Given the description of an element on the screen output the (x, y) to click on. 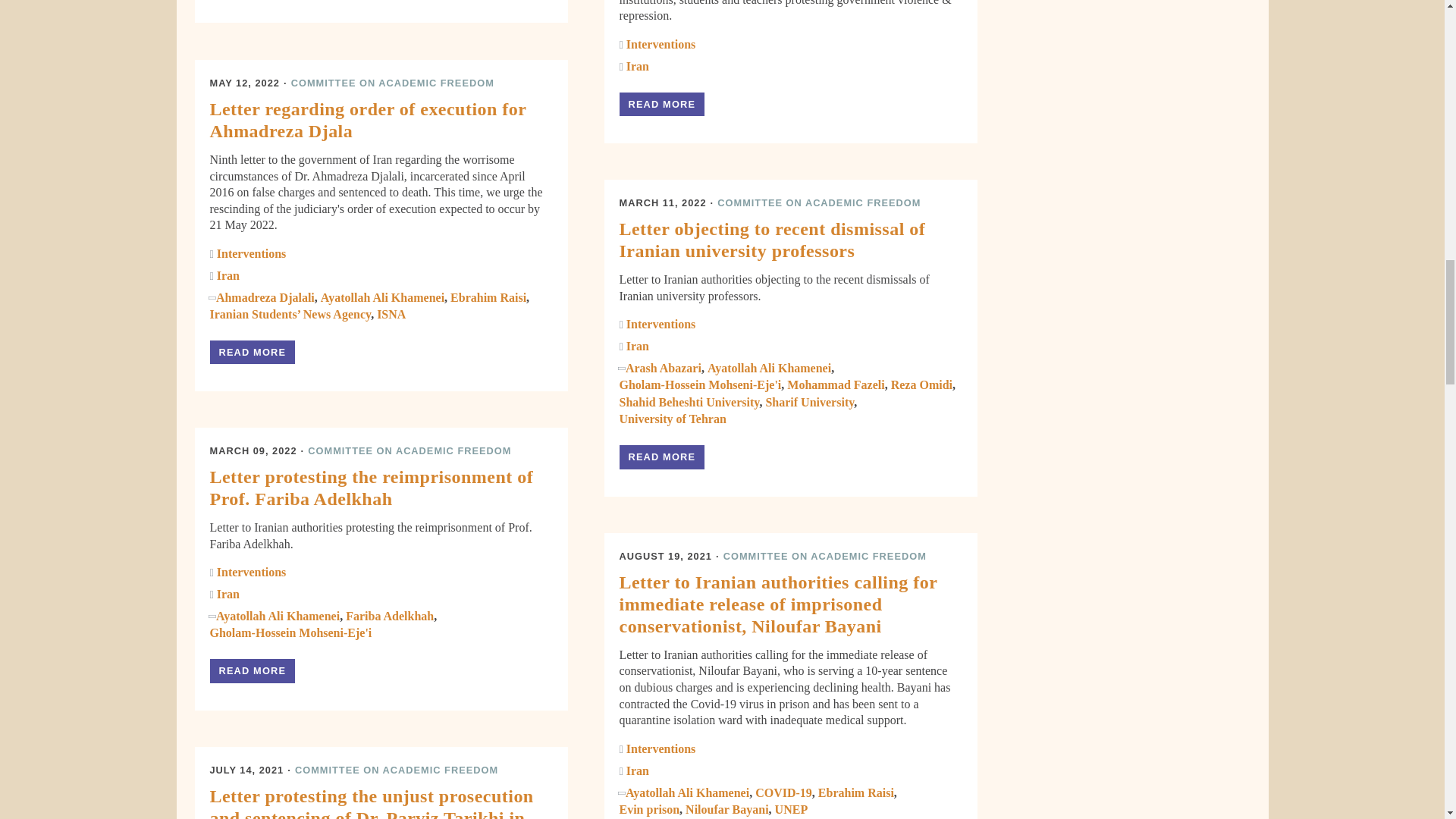
Letter regarding order of execution for Ahmadreza Djala (252, 351)
Recent Attacks by Iranian Authorities on Civilian Protests (661, 104)
